Given the description of an element on the screen output the (x, y) to click on. 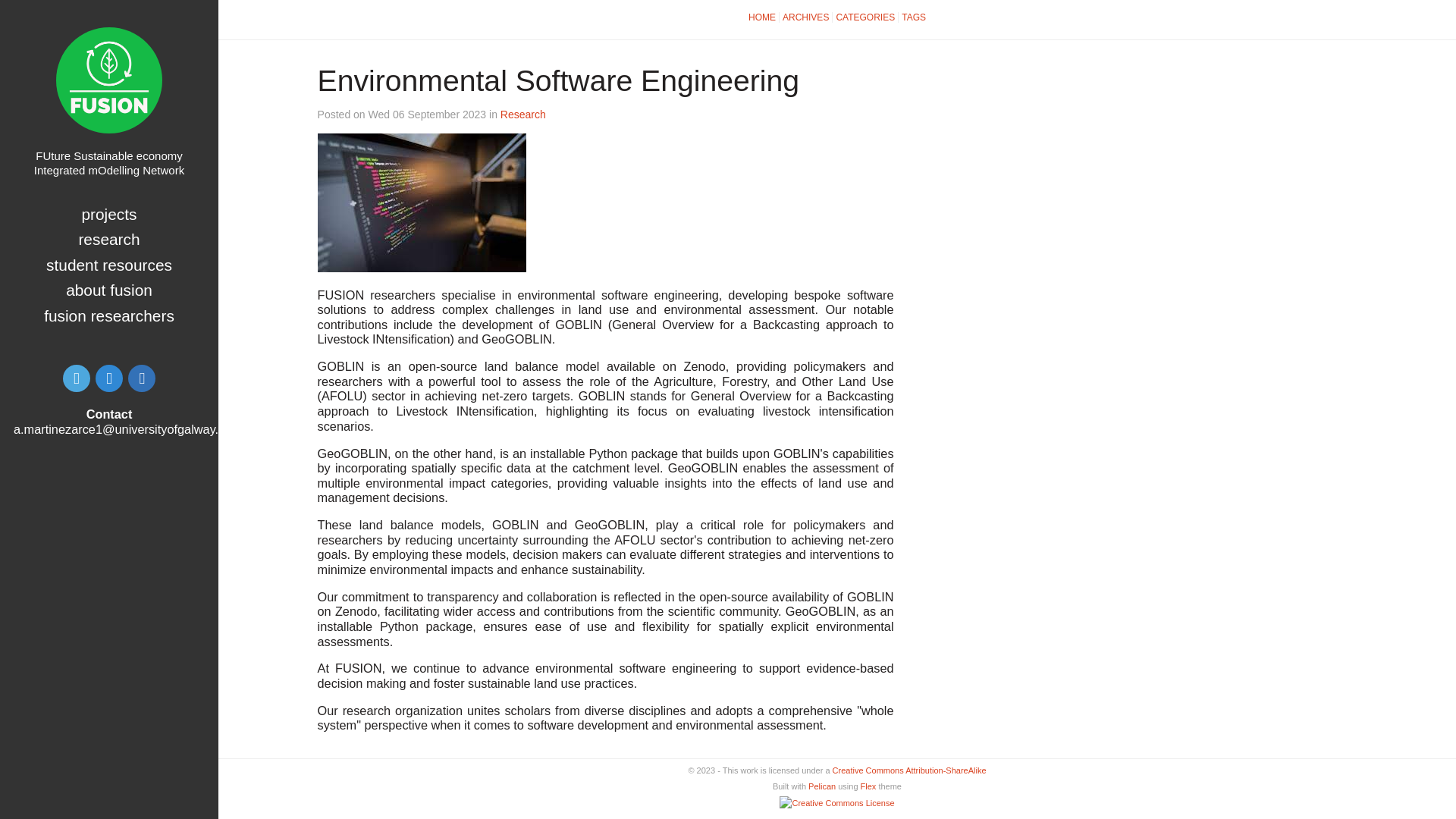
Pelican (821, 786)
Flex (868, 786)
CATEGORIES (865, 17)
about fusion (108, 289)
Creative Commons License (835, 803)
ARCHIVES (805, 17)
HOME (761, 17)
research (108, 239)
student resources (108, 264)
fusion researchers (108, 315)
